Given the description of an element on the screen output the (x, y) to click on. 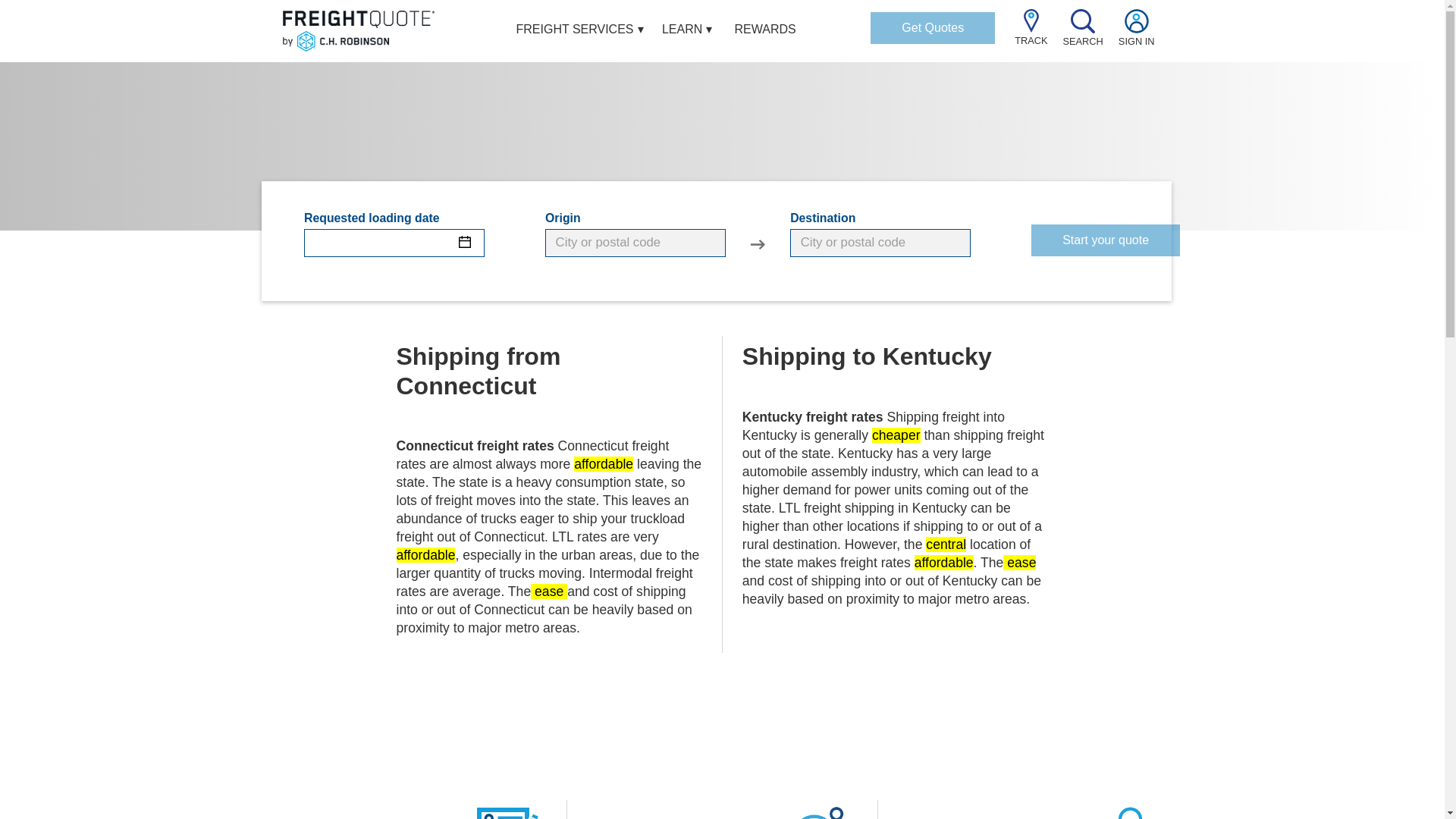
SEARCH (1082, 34)
TRACK (1030, 34)
Get Quotes (932, 28)
SIGN IN (1136, 34)
REWARDS (765, 31)
Start your quote (1104, 240)
FREIGHT SERVICES (574, 31)
